Given the description of an element on the screen output the (x, y) to click on. 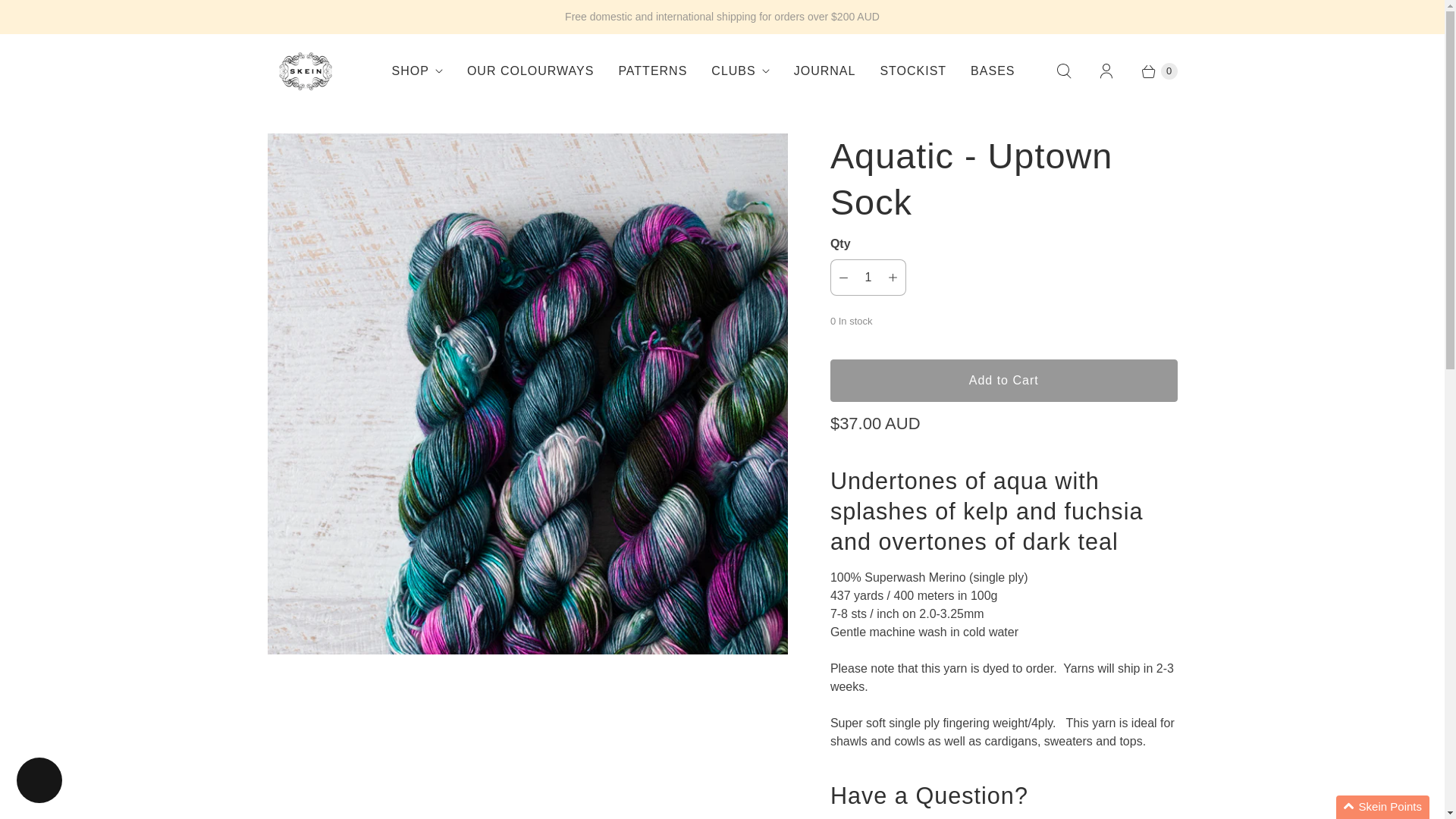
Shopify online store chat (38, 781)
Edited (928, 795)
Edited (985, 510)
